Given the description of an element on the screen output the (x, y) to click on. 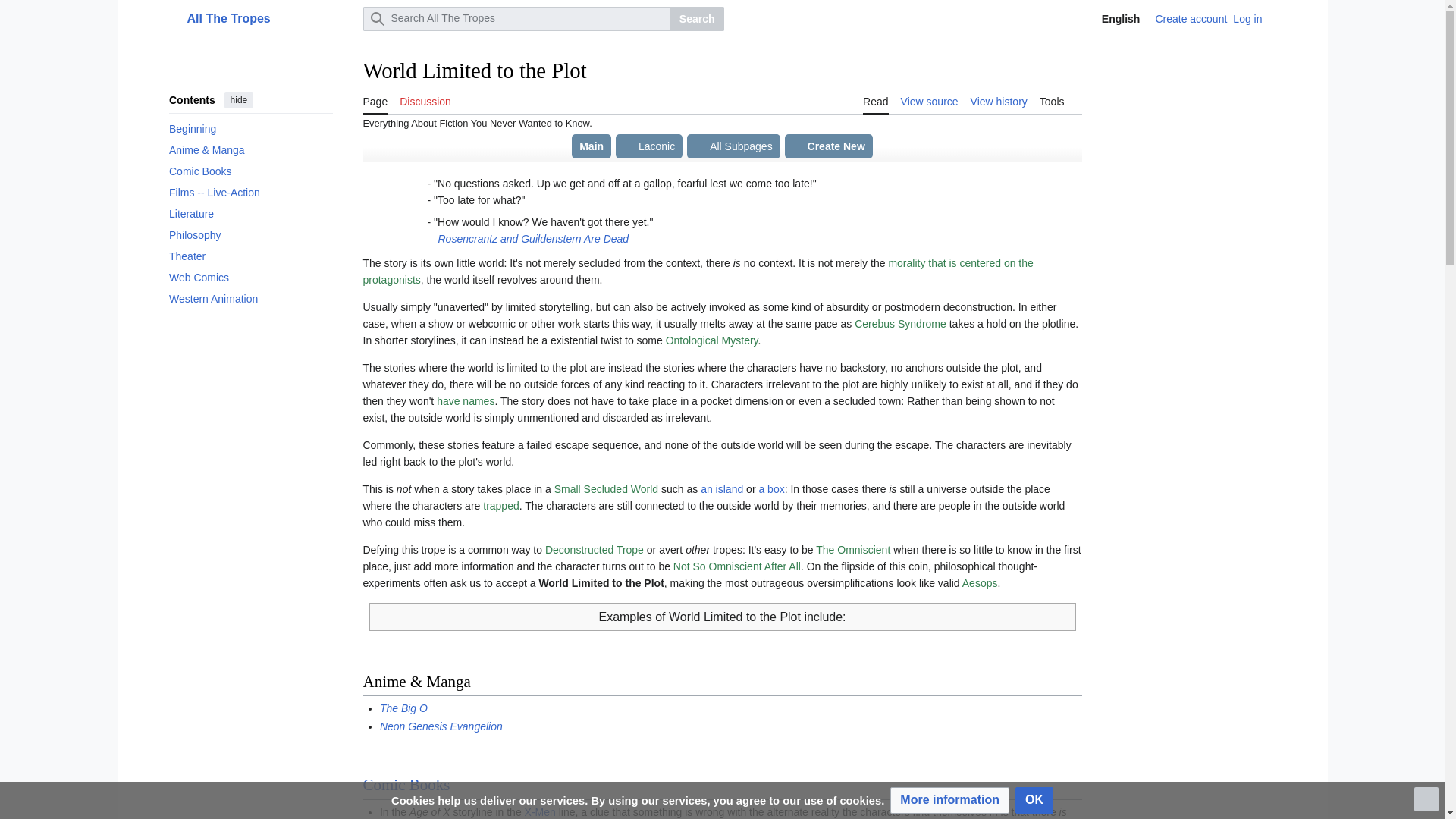
Beginning (249, 128)
English (1110, 18)
hide (238, 99)
Comic Books (249, 170)
More options (1280, 18)
Search (696, 18)
All The Tropes (270, 18)
Log in (1247, 19)
Create account (1190, 19)
